Given the description of an element on the screen output the (x, y) to click on. 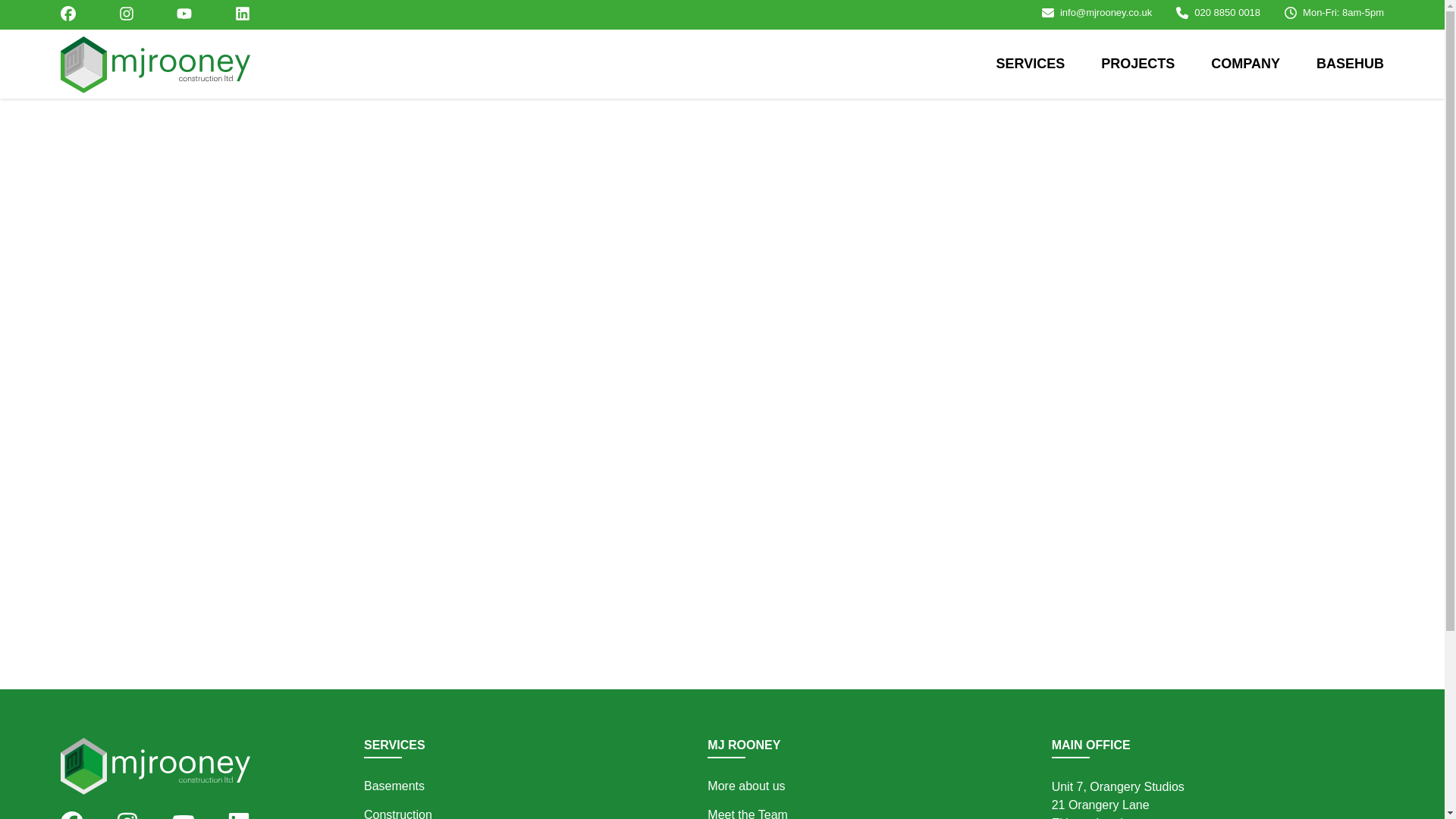
Meet the Team (747, 813)
BASEHUB (1350, 63)
PROJECTS (1137, 63)
Basements (394, 785)
Construction (398, 813)
SERVICES (1030, 63)
COMPANY (1245, 63)
020 8850 0018 (1226, 12)
More about us (745, 785)
